Given the description of an element on the screen output the (x, y) to click on. 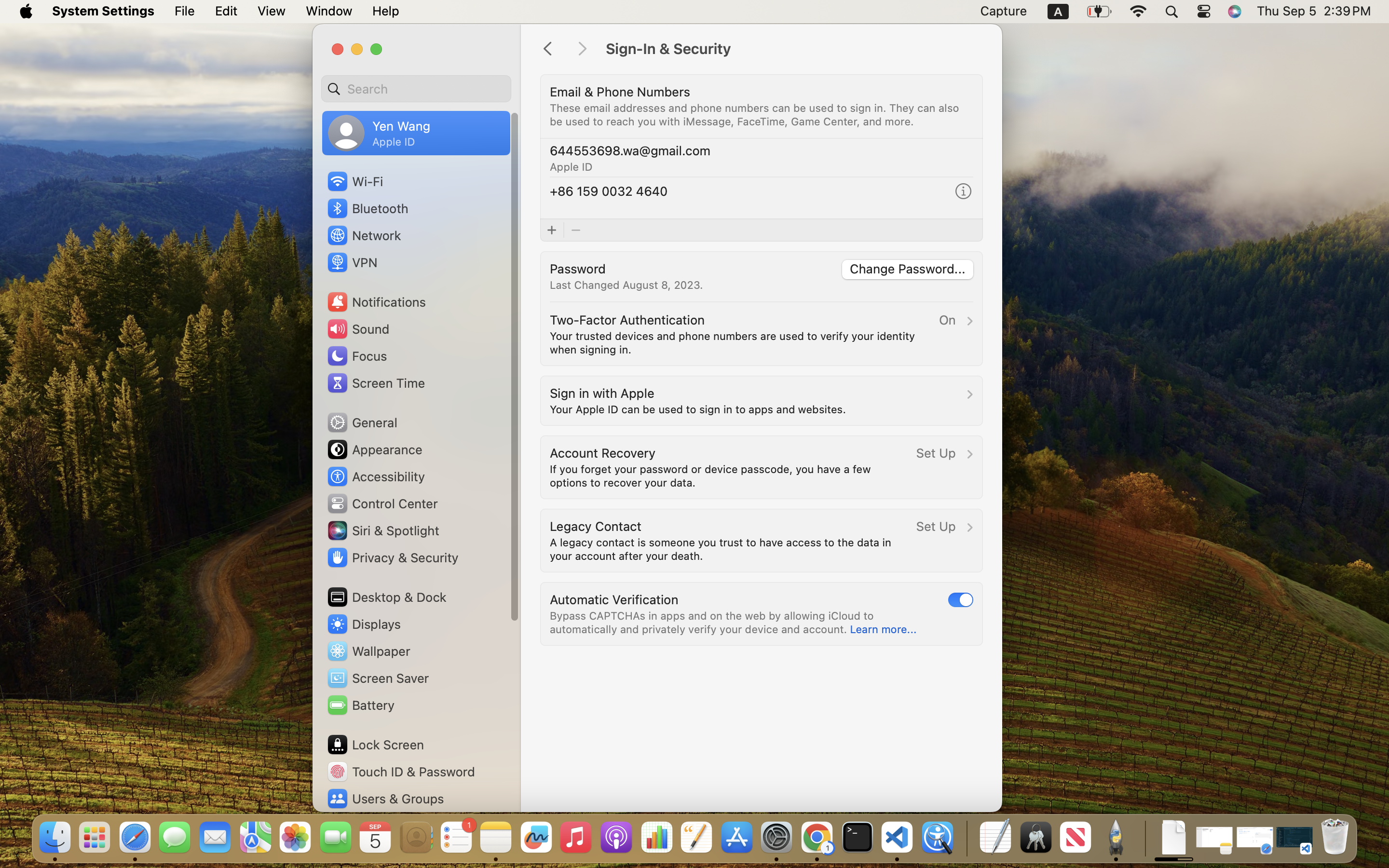
1 Element type: AXCheckBox (960, 599)
